Given the description of an element on the screen output the (x, y) to click on. 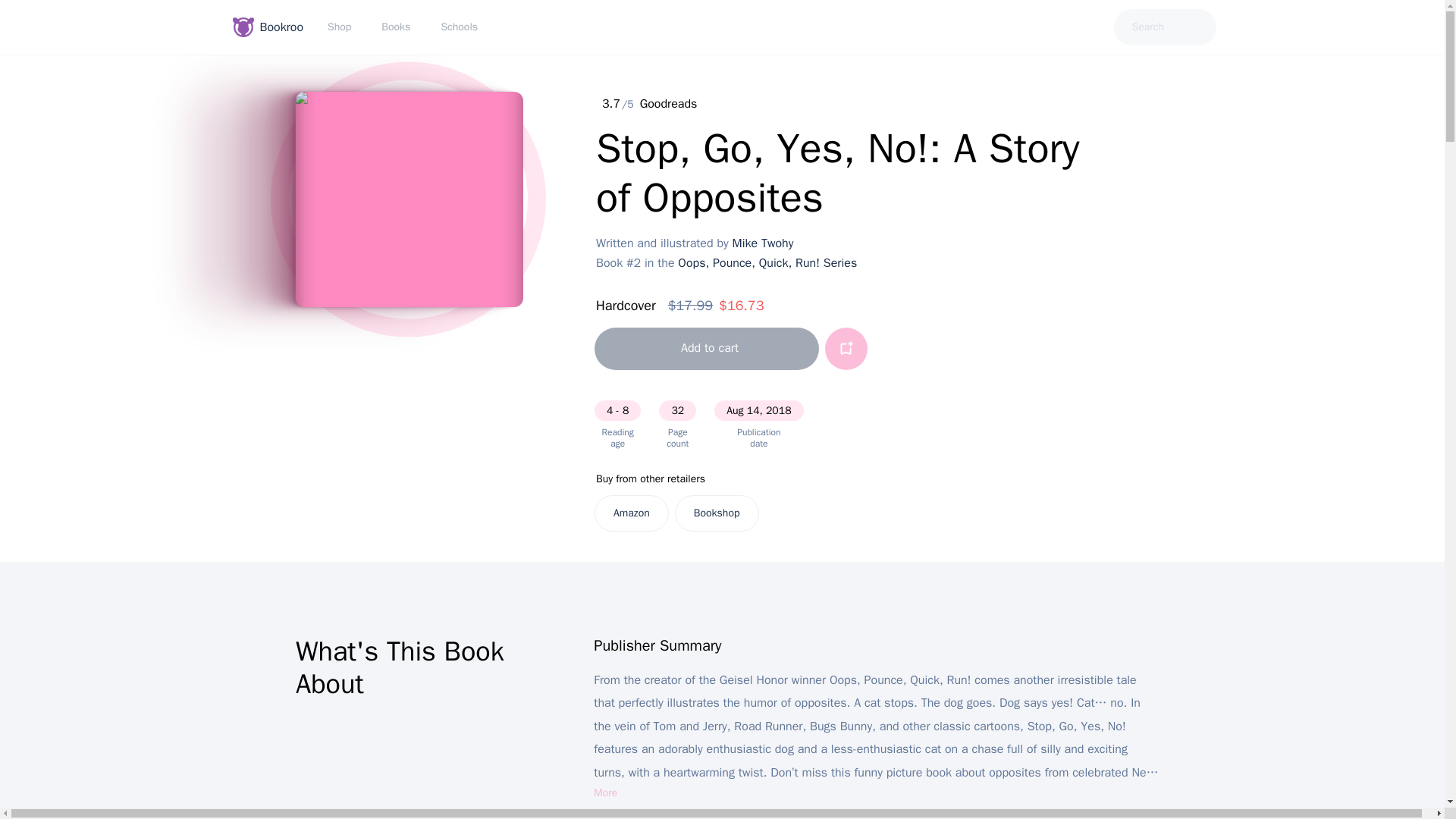
Add to cart (706, 348)
Bookroo (269, 26)
Search (1164, 27)
Schools (462, 27)
Amazon (631, 513)
Bookshop (716, 513)
Mike Twohy (762, 242)
More (605, 792)
Shop (342, 27)
Books (398, 27)
Oops, Pounce, Quick, Run! Series (767, 263)
